Given the description of an element on the screen output the (x, y) to click on. 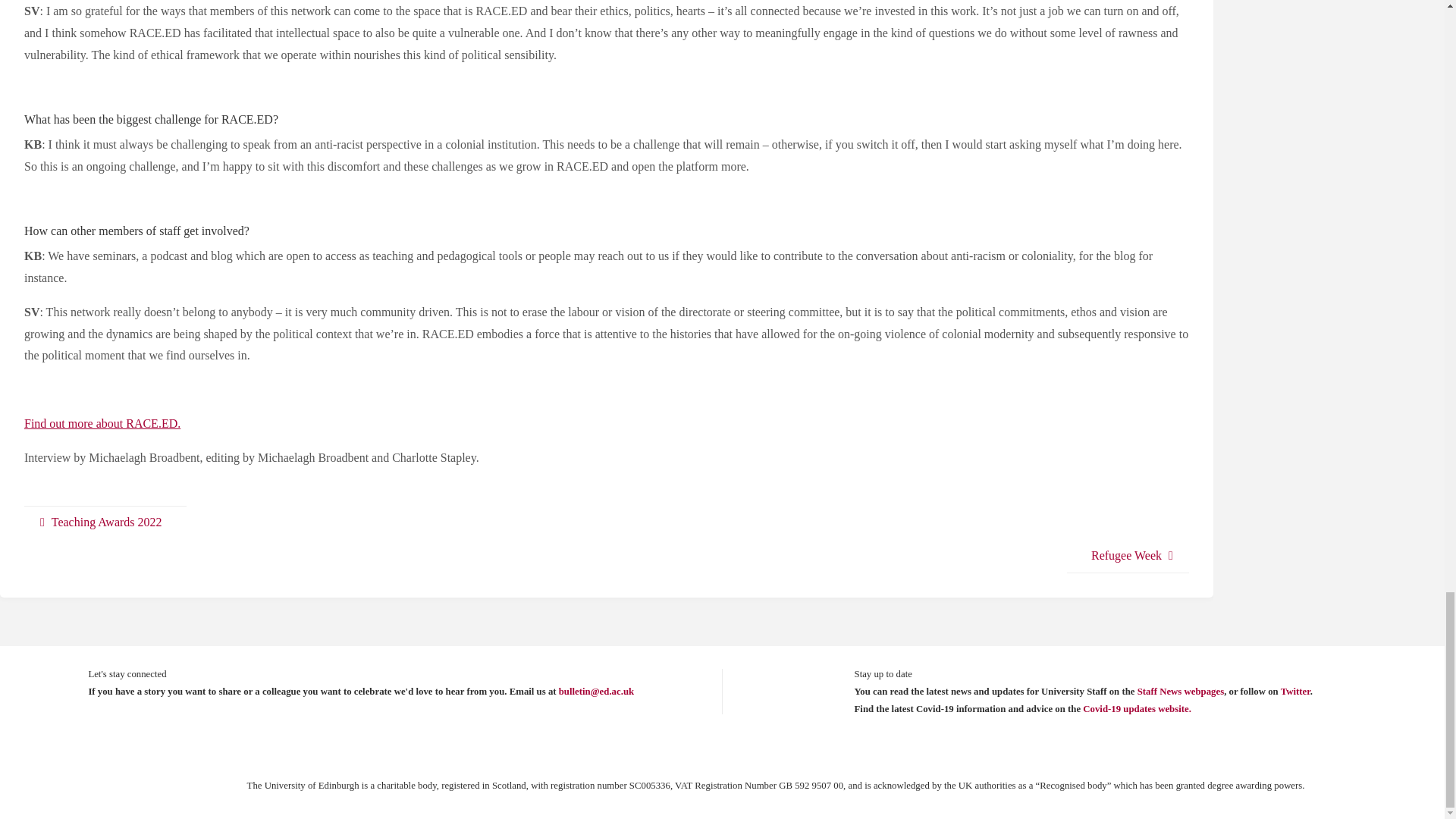
Find out more about RACE.ED. (102, 422)
Twitter (1295, 691)
Staff News webpages (1180, 691)
Teaching Awards 2022 (105, 522)
Refugee Week (1128, 555)
Covid-19 updates website. (1137, 708)
